Given the description of an element on the screen output the (x, y) to click on. 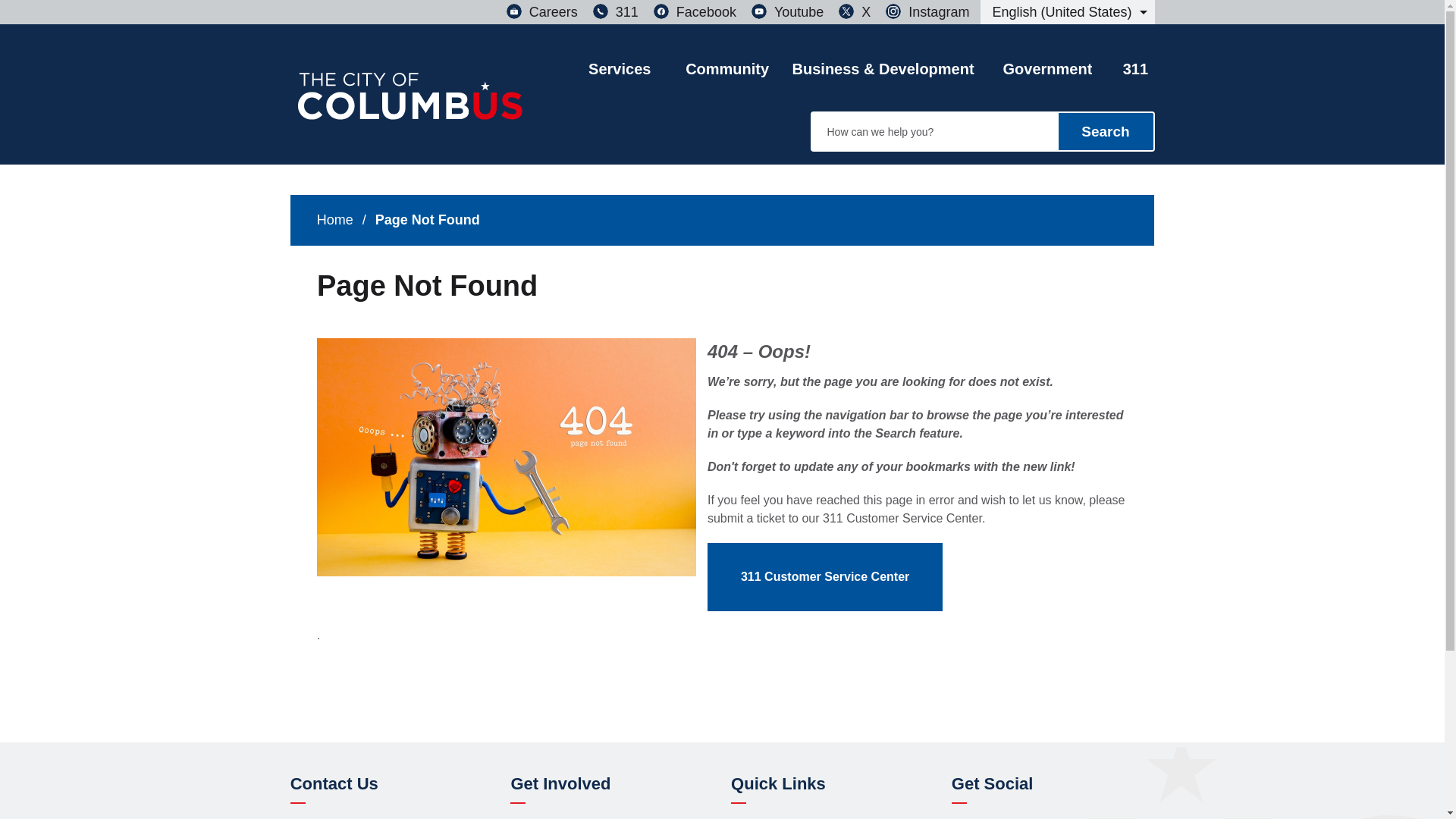
Search (1105, 131)
Services (619, 54)
Facebook (694, 11)
311 (615, 11)
Search (1105, 131)
Careers (542, 11)
X (854, 11)
City of Columbus, Ohio - Home - Logo (410, 105)
Youtube (787, 11)
Instagram (927, 11)
